Given the description of an element on the screen output the (x, y) to click on. 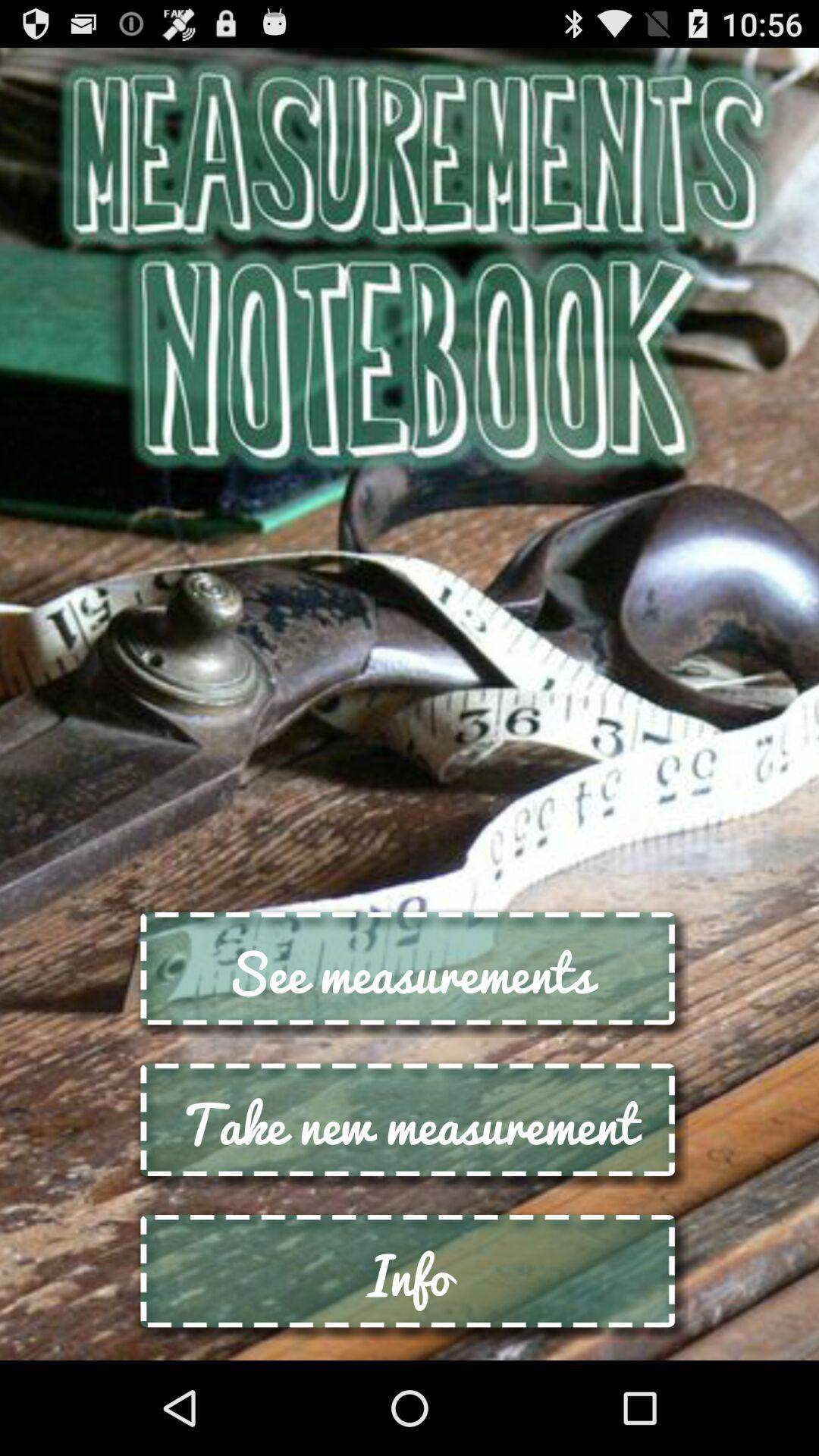
turn off the info icon (409, 1274)
